Given the description of an element on the screen output the (x, y) to click on. 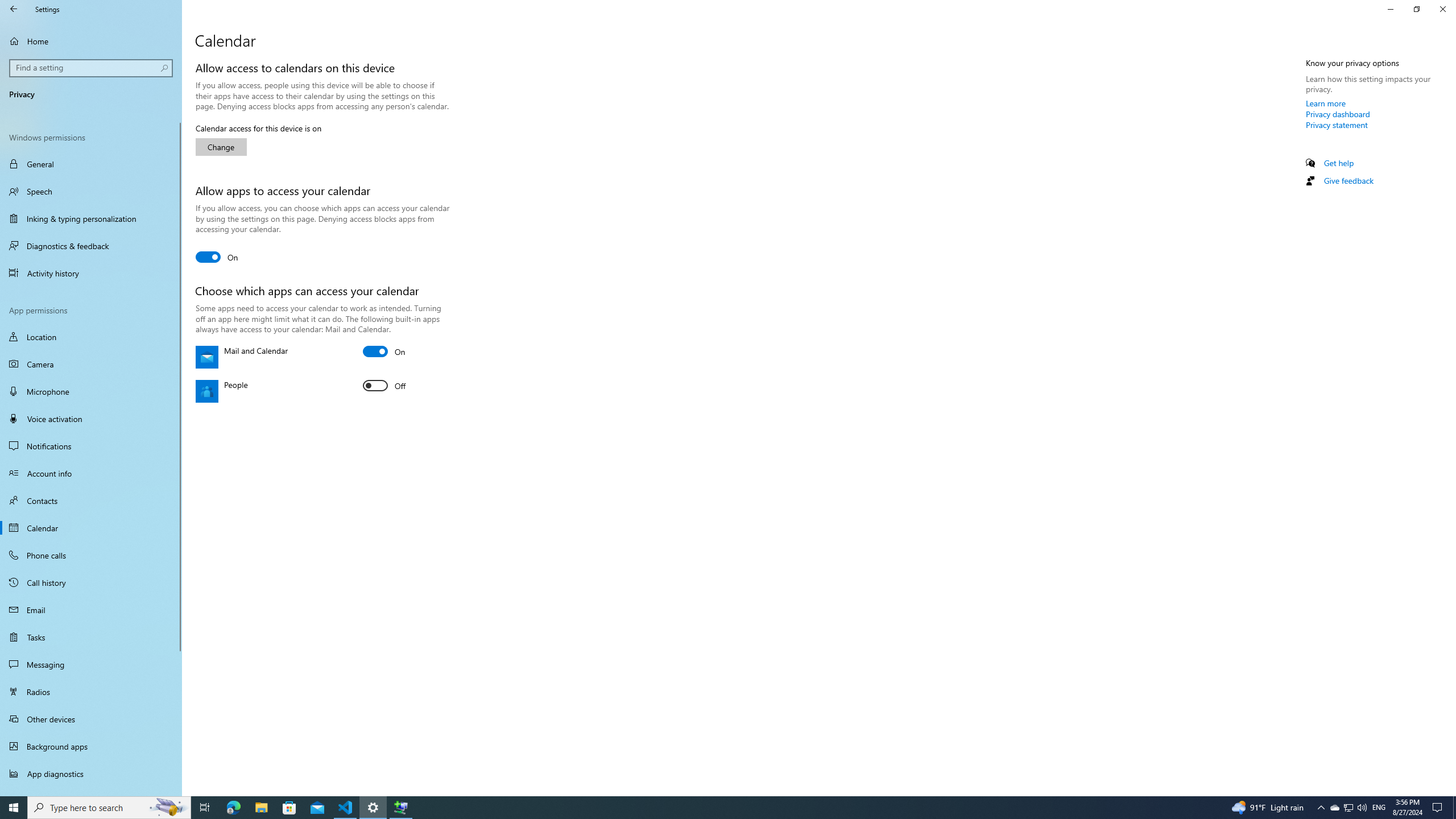
Minimize Settings (1390, 9)
Other devices (91, 718)
Privacy statement (1336, 124)
Get help (1338, 162)
Camera (91, 363)
Running applications (706, 807)
Call history (91, 582)
Voice activation (91, 418)
Microphone (91, 390)
Messaging (91, 664)
Back (13, 9)
Allow apps to access your calendar (216, 257)
